Given the description of an element on the screen output the (x, y) to click on. 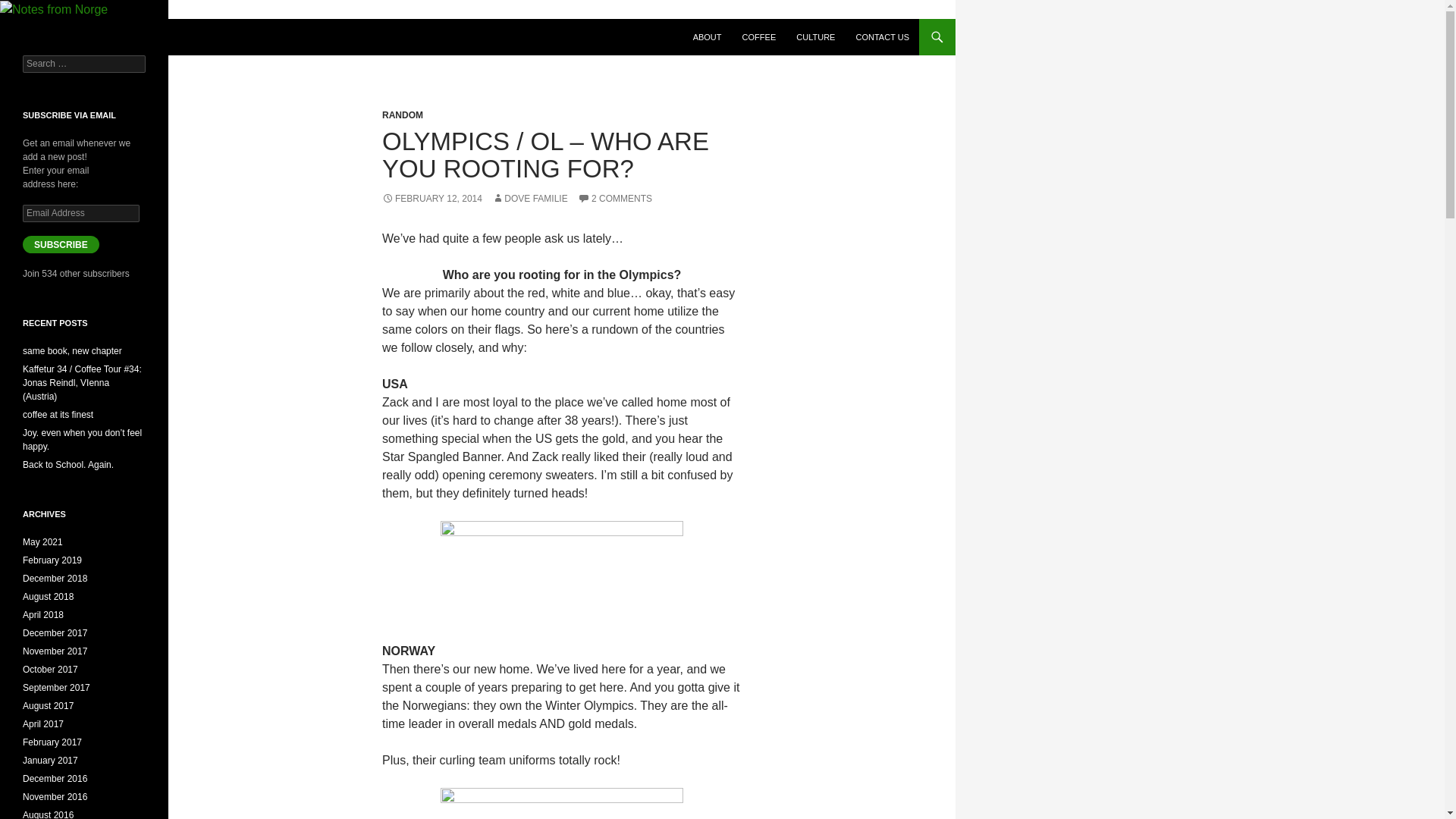
DOVE FAMILIE (529, 198)
RANDOM (402, 114)
2 COMMENTS (615, 198)
ABOUT (707, 36)
CONTACT US (881, 36)
COFFEE (759, 36)
Notes from Norge (80, 36)
CULTURE (815, 36)
